Given the description of an element on the screen output the (x, y) to click on. 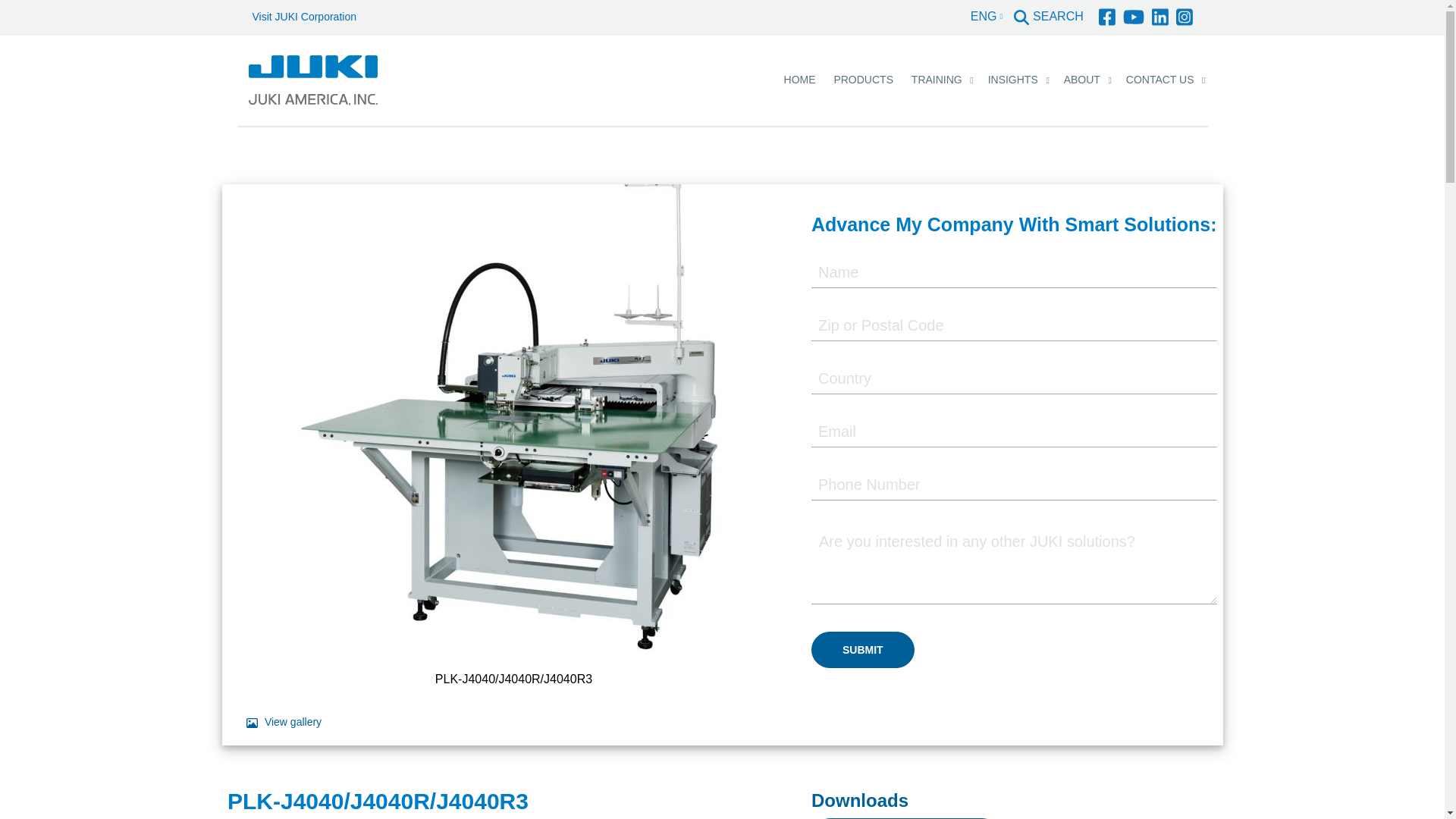
Visit JUKI Corporation (303, 16)
INSIGHTS (1012, 79)
Name (1013, 272)
Phone Number (1013, 485)
TRAINING (936, 79)
Zip or Postal Code (1013, 326)
SUBMIT (862, 649)
ABOUT (1082, 79)
PRODUCTS (863, 79)
